Given the description of an element on the screen output the (x, y) to click on. 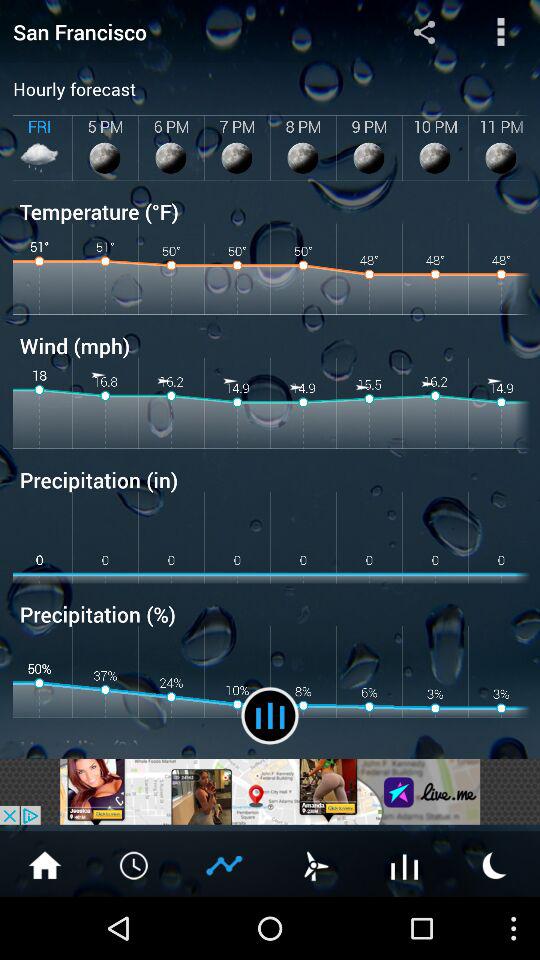
show percentages chart (225, 864)
